Given the description of an element on the screen output the (x, y) to click on. 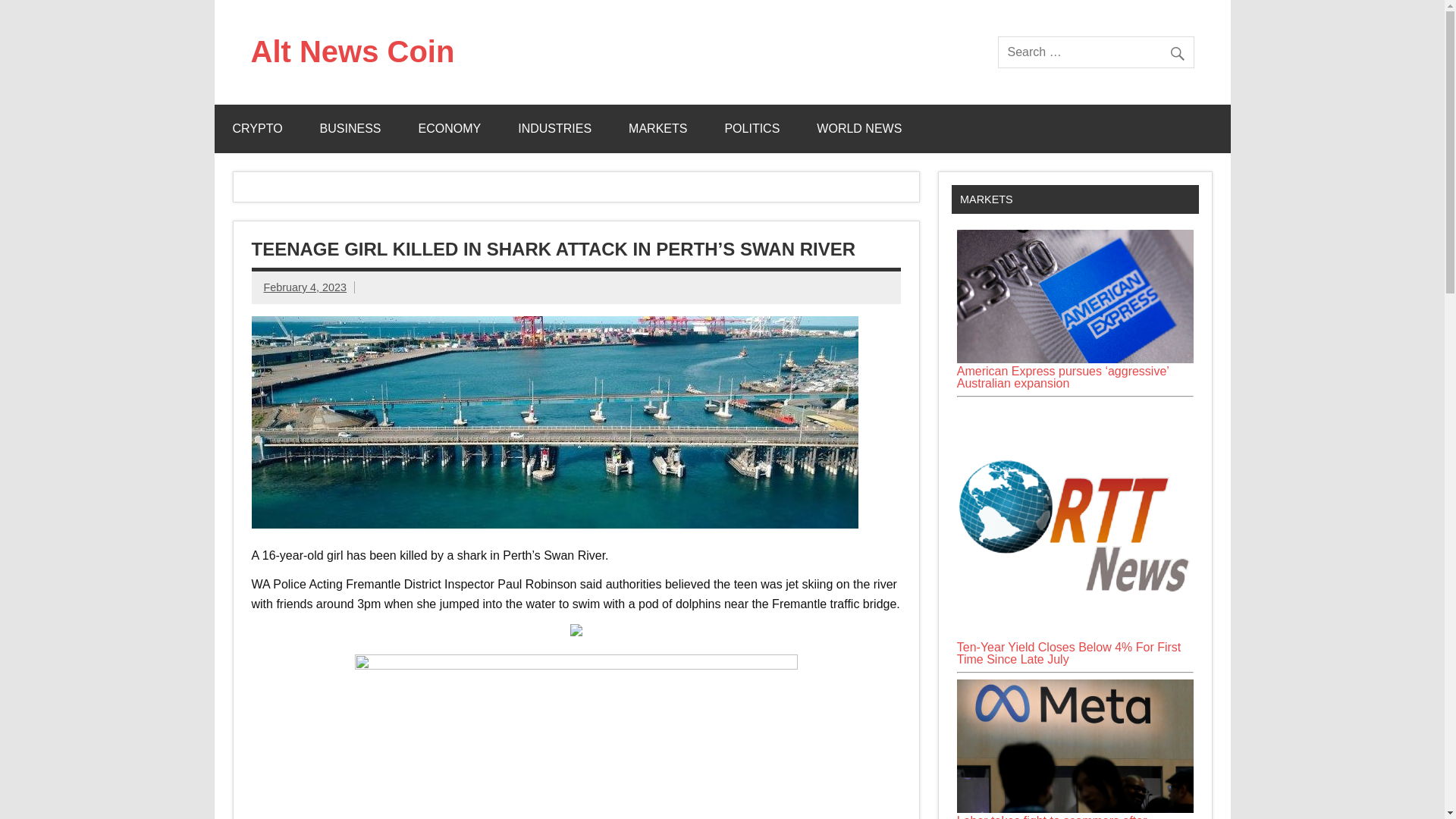
February 4, 2023 (305, 287)
MARKETS (657, 128)
WORLD NEWS (858, 128)
ECONOMY (449, 128)
Alt News Coin (352, 51)
10:17 am (305, 287)
CRYPTO (256, 128)
POLITICS (751, 128)
BUSINESS (349, 128)
INDUSTRIES (554, 128)
